Given the description of an element on the screen output the (x, y) to click on. 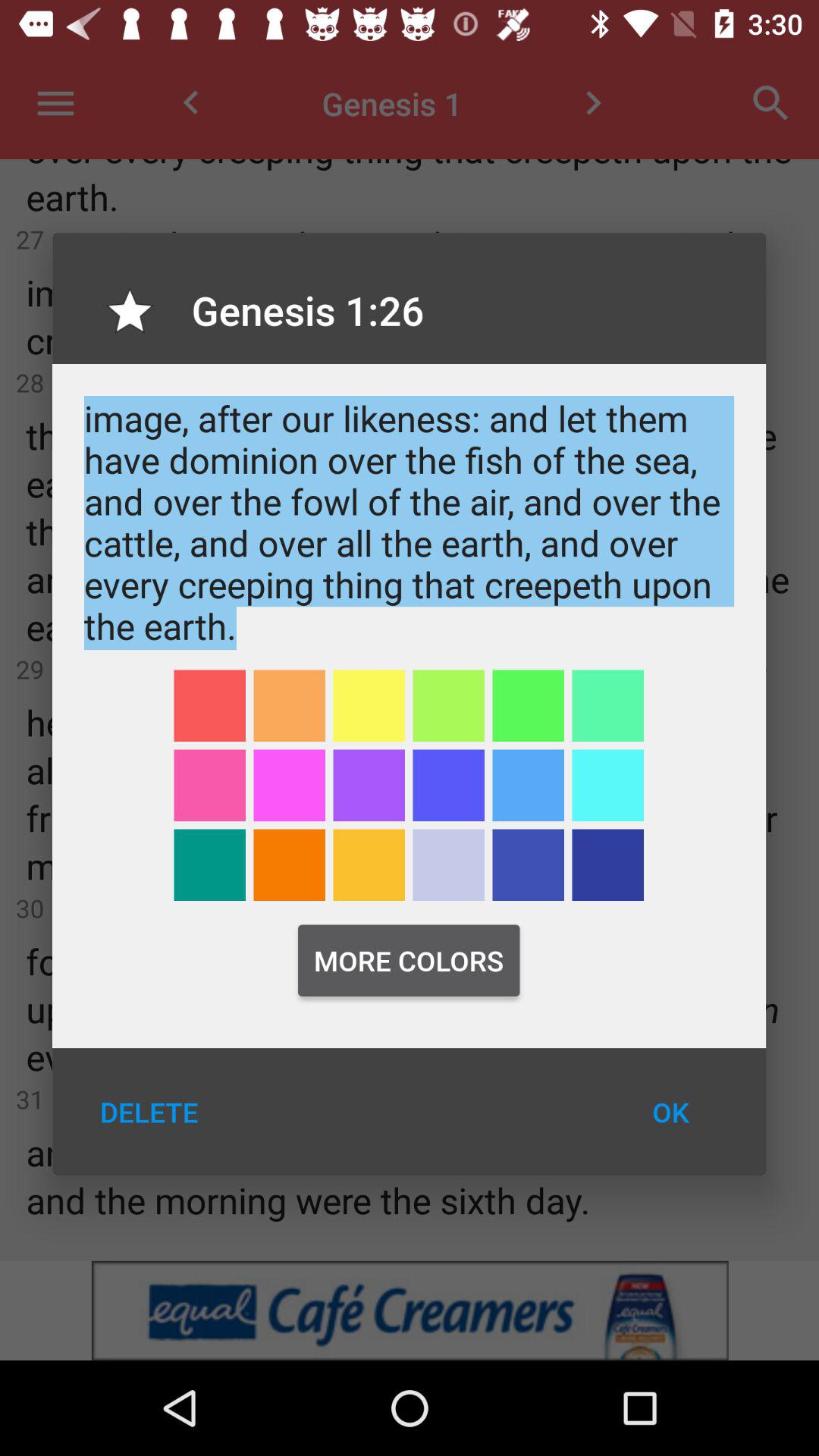
click the icon below the and god said (368, 705)
